Given the description of an element on the screen output the (x, y) to click on. 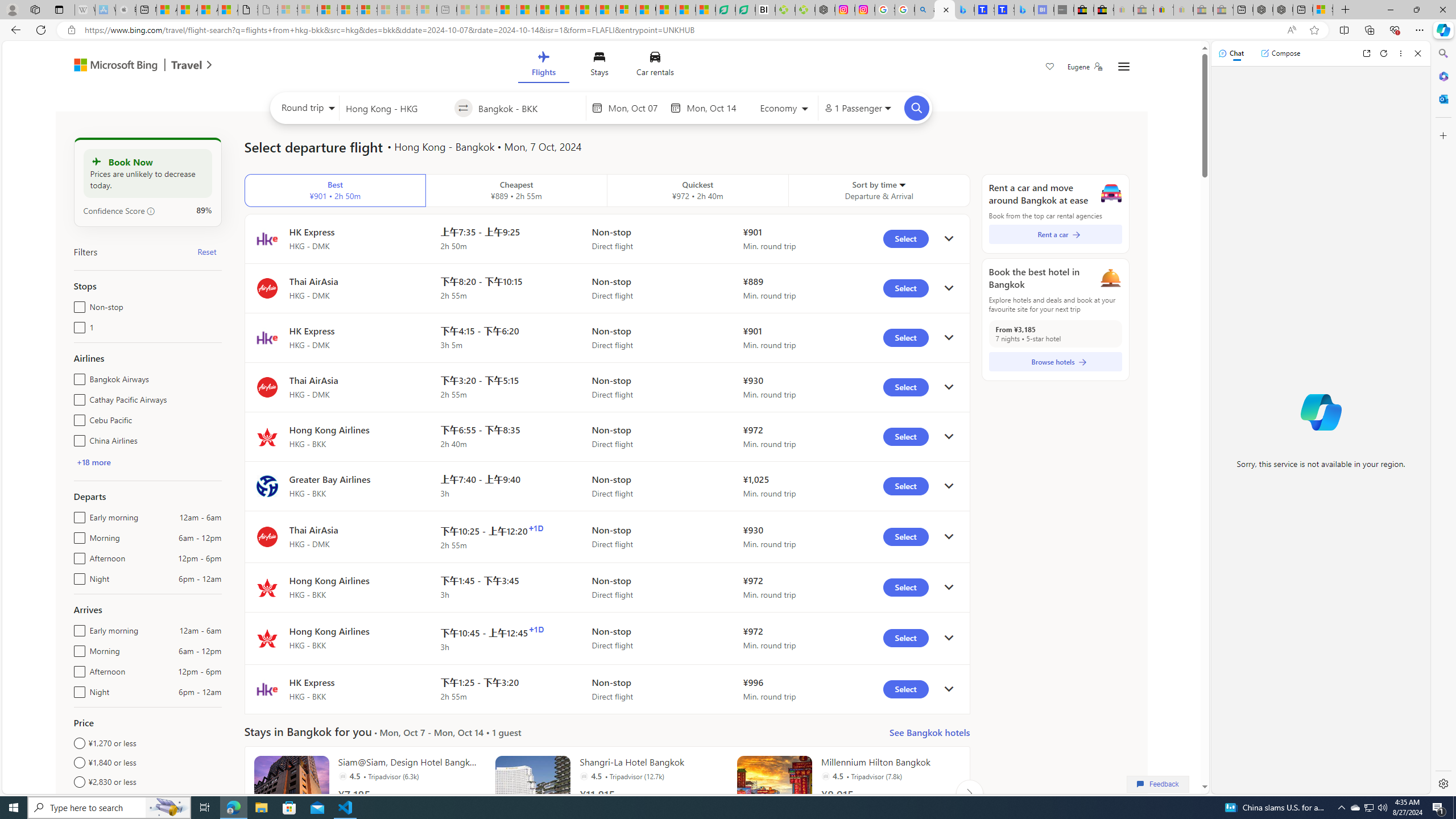
LendingTree - Compare Lenders (745, 9)
US Heat Deaths Soared To Record High Last Year (646, 9)
Cebu Pacific (76, 417)
Early morning12am - 6am (76, 628)
alabama high school quarterback dies - Search (924, 9)
Afternoon12pm - 6pm (76, 669)
